Given the description of an element on the screen output the (x, y) to click on. 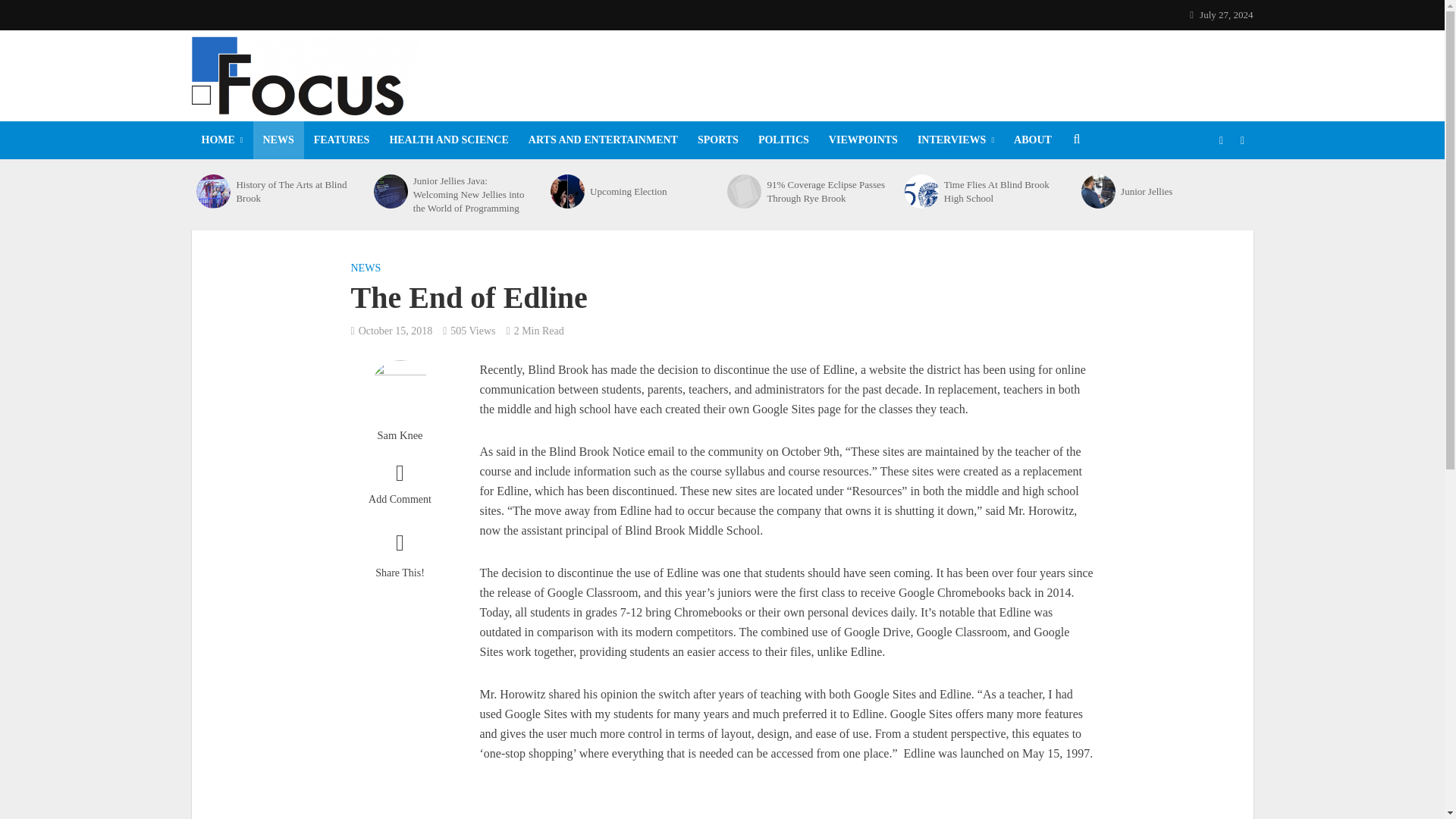
SPORTS (717, 139)
Time Flies At Blind Brook High School (1003, 190)
INTERVIEWS (955, 139)
FEATURES (342, 139)
History of The Arts at Blind Brook (295, 190)
VIEWPOINTS (862, 139)
NEWS (278, 139)
ARTS AND ENTERTAINMENT (602, 139)
HEALTH AND SCIENCE (448, 139)
Time Flies At Blind Brook High School (921, 191)
ABOUT (1032, 139)
Junior Jellies (1181, 192)
Upcoming Election (566, 191)
Junior Jellies (1098, 191)
